Given the description of an element on the screen output the (x, y) to click on. 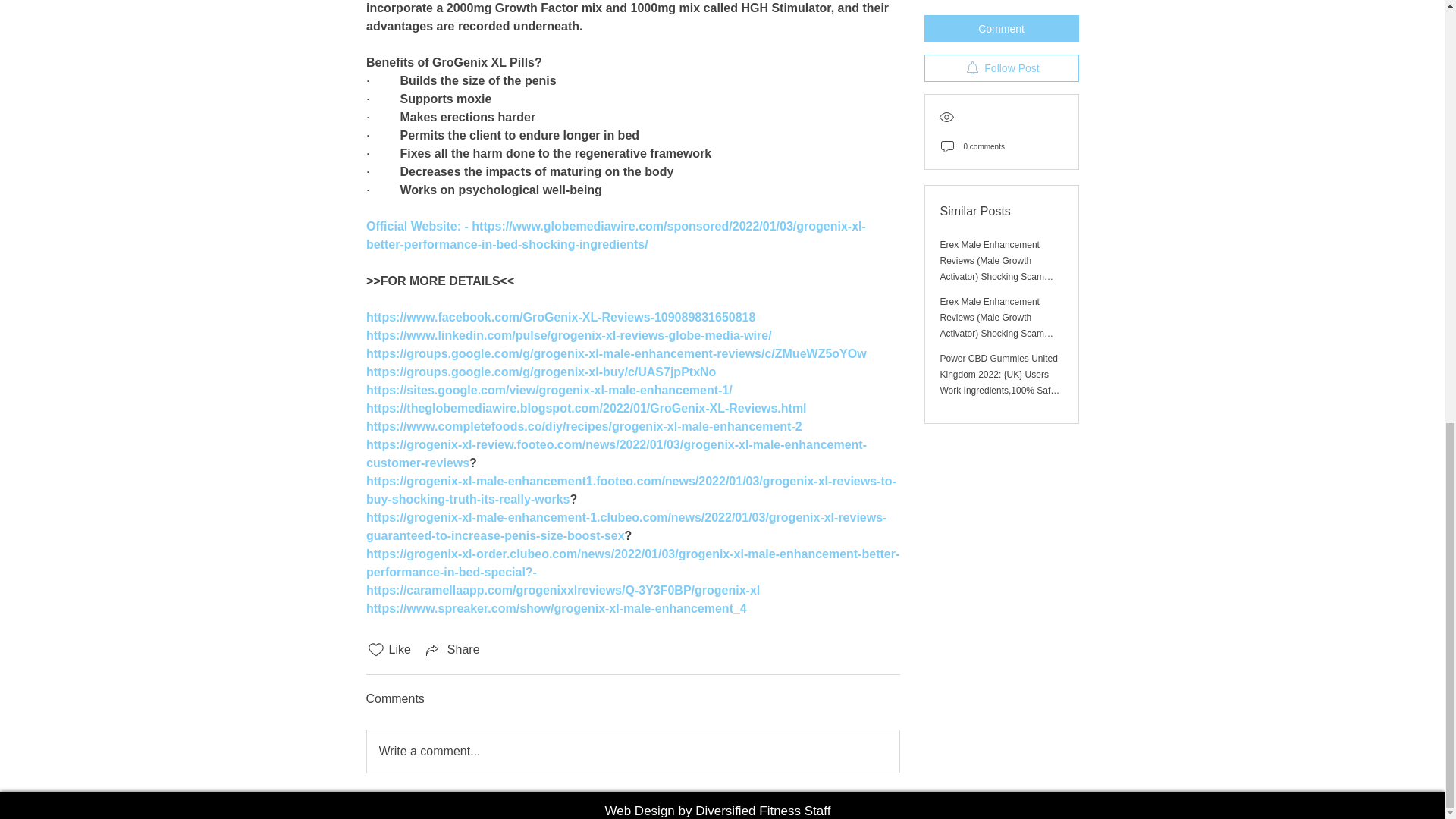
Official Website: -  (417, 226)
